Given the description of an element on the screen output the (x, y) to click on. 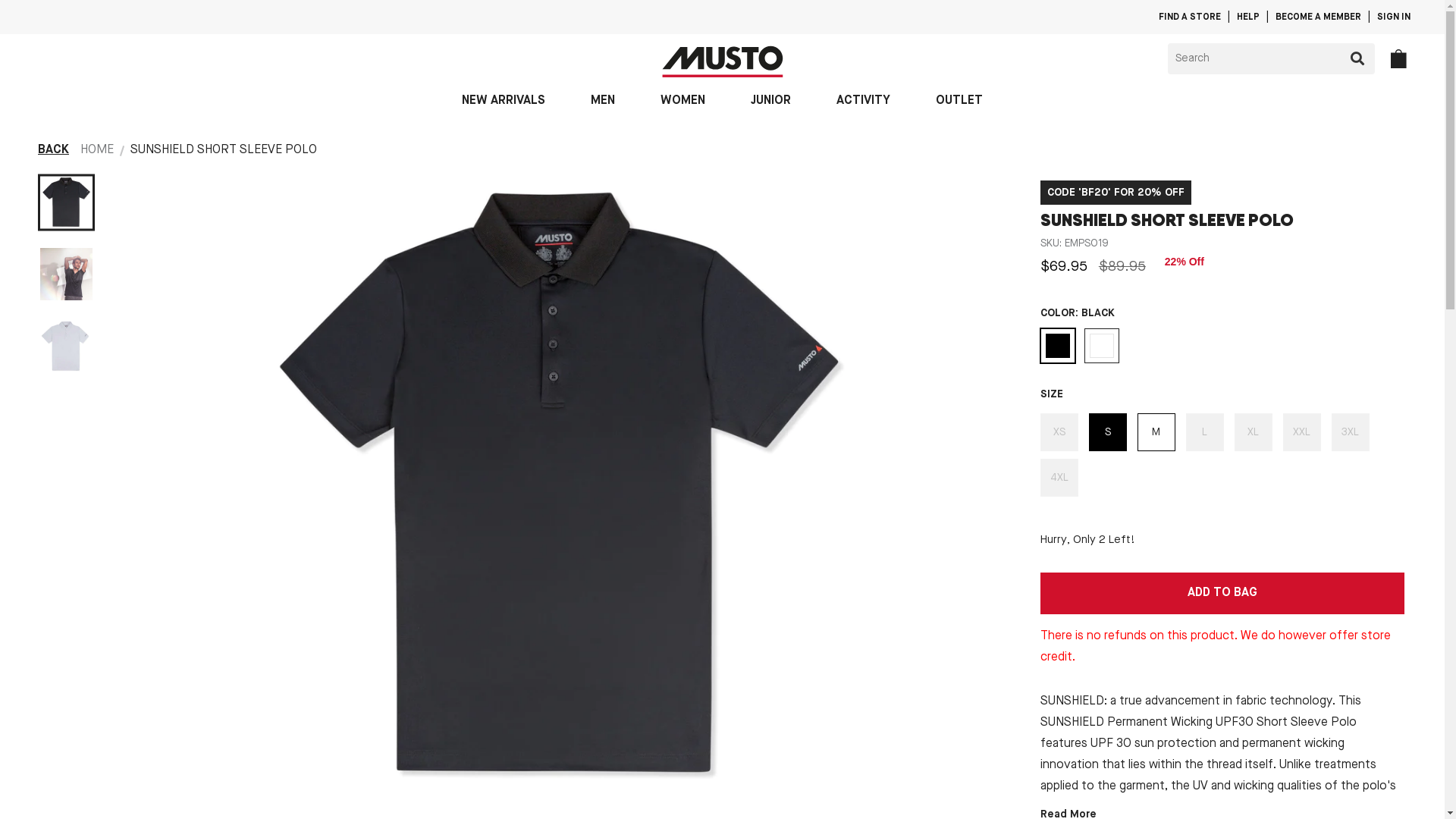
WOMEN Element type: text (682, 100)
HOME Element type: text (96, 150)
BACK Element type: text (53, 150)
MEN Element type: text (602, 100)
ADD TO BAG Element type: text (1222, 593)
NEW ARRIVALS Element type: text (503, 100)
FIND A STORE Element type: text (1189, 16)
SIGN IN Element type: text (1393, 16)
ACTIVITY Element type: text (863, 100)
HELP Element type: text (1247, 16)
Cart Element type: text (1398, 58)
BECOME A MEMBER Element type: text (1318, 16)
JUNIOR Element type: text (770, 100)
OUTLET Element type: text (959, 100)
